Given the description of an element on the screen output the (x, y) to click on. 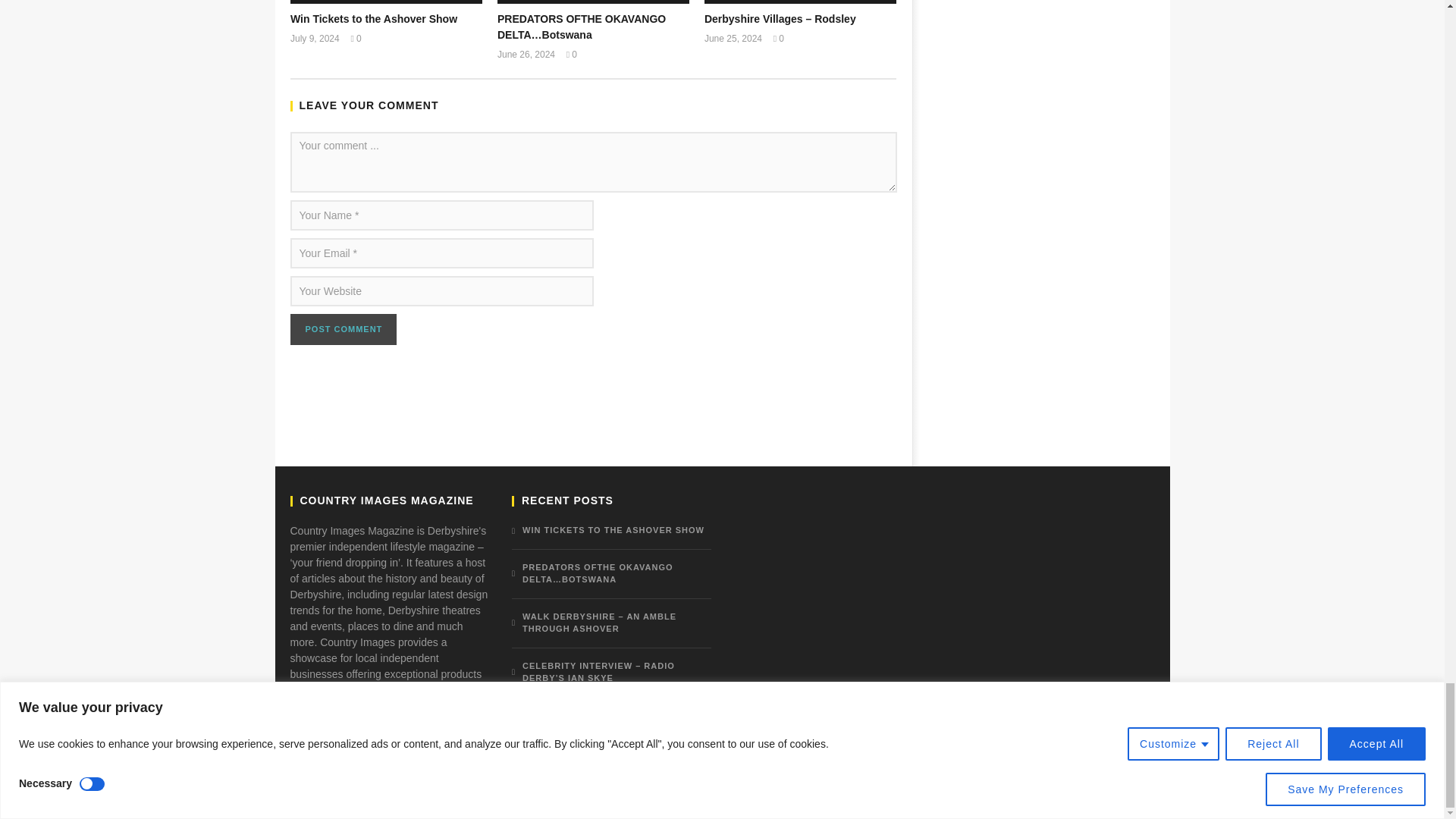
Post Comment (342, 328)
